Given the description of an element on the screen output the (x, y) to click on. 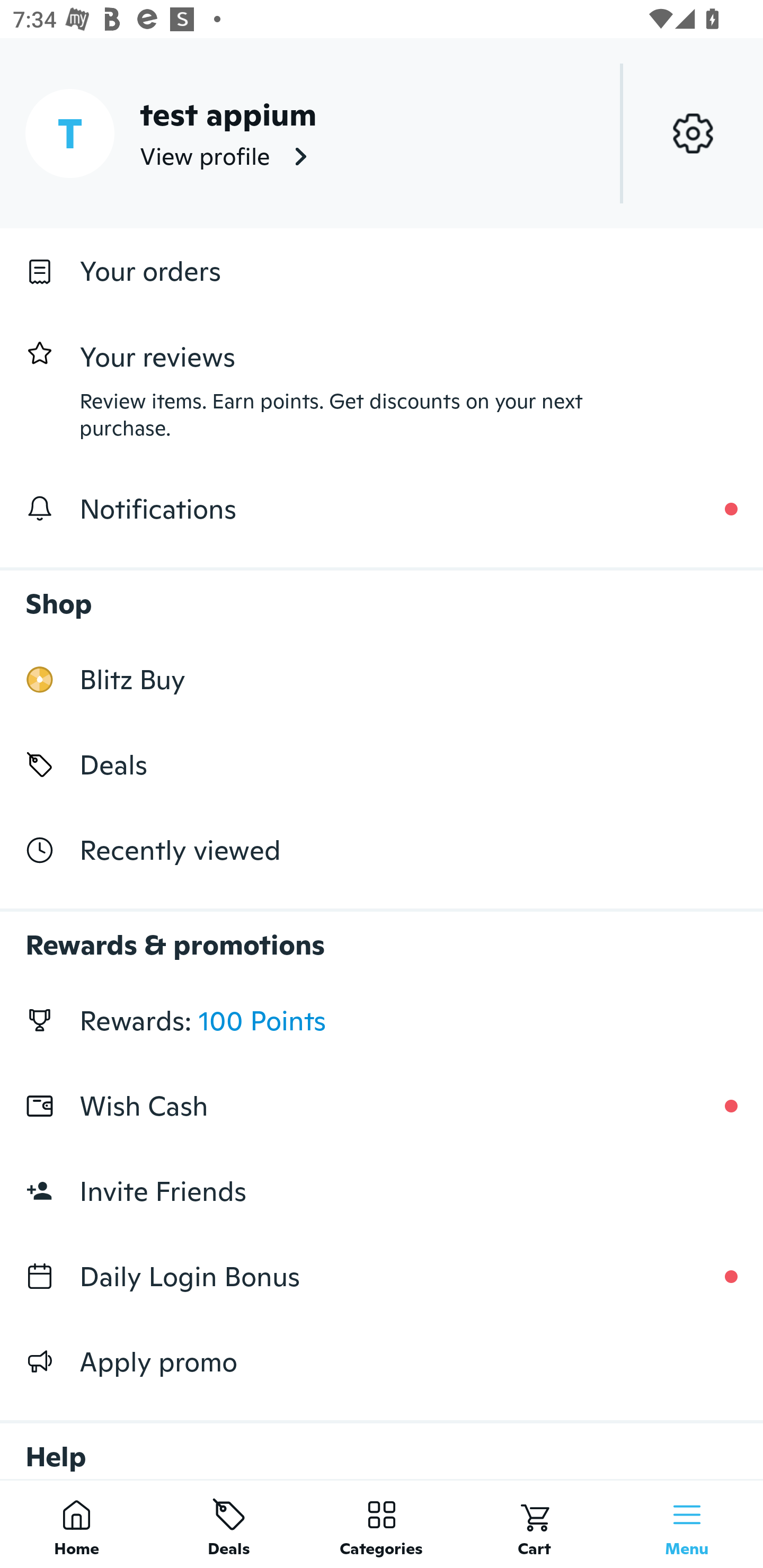
T test appium View profile (381, 132)
Your orders (381, 270)
Notifications (381, 508)
Shop (381, 593)
Blitz Buy (381, 679)
Deals (381, 764)
Recently viewed (381, 850)
Rewards & promotions (381, 935)
Rewards: 100 Points (381, 1020)
Wish Cash (381, 1106)
Invite Friends (381, 1190)
Daily Login Bonus (381, 1277)
Apply promo (381, 1361)
Help (381, 1441)
Home (76, 1523)
Deals (228, 1523)
Categories (381, 1523)
Cart (533, 1523)
Menu (686, 1523)
